Given the description of an element on the screen output the (x, y) to click on. 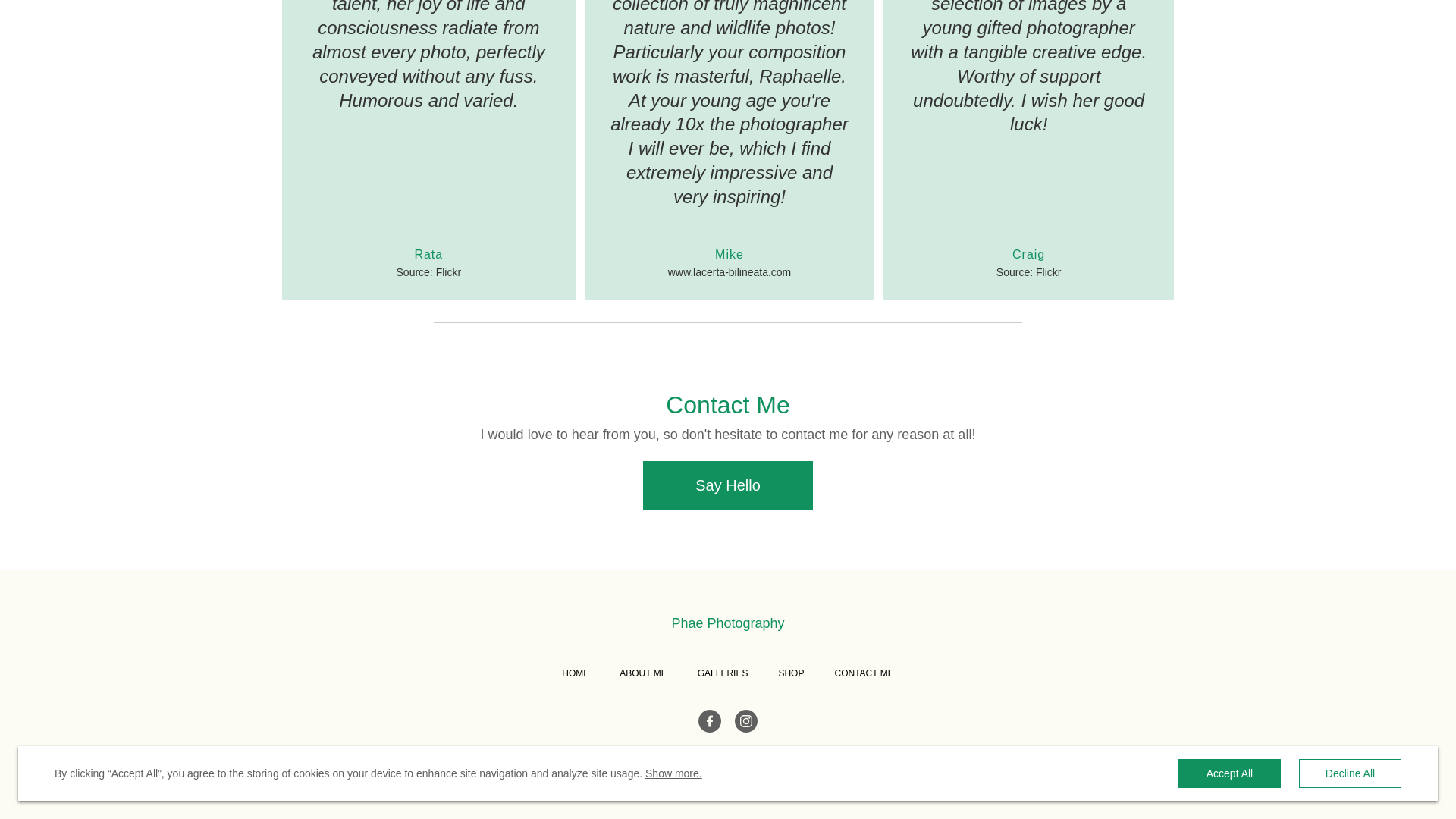
HOME (575, 673)
CONTACT ME (863, 673)
GALLERIES (722, 673)
Phae Photography (727, 623)
SHOP (790, 673)
ABOUT ME (643, 673)
Say Hello (727, 485)
